Given the description of an element on the screen output the (x, y) to click on. 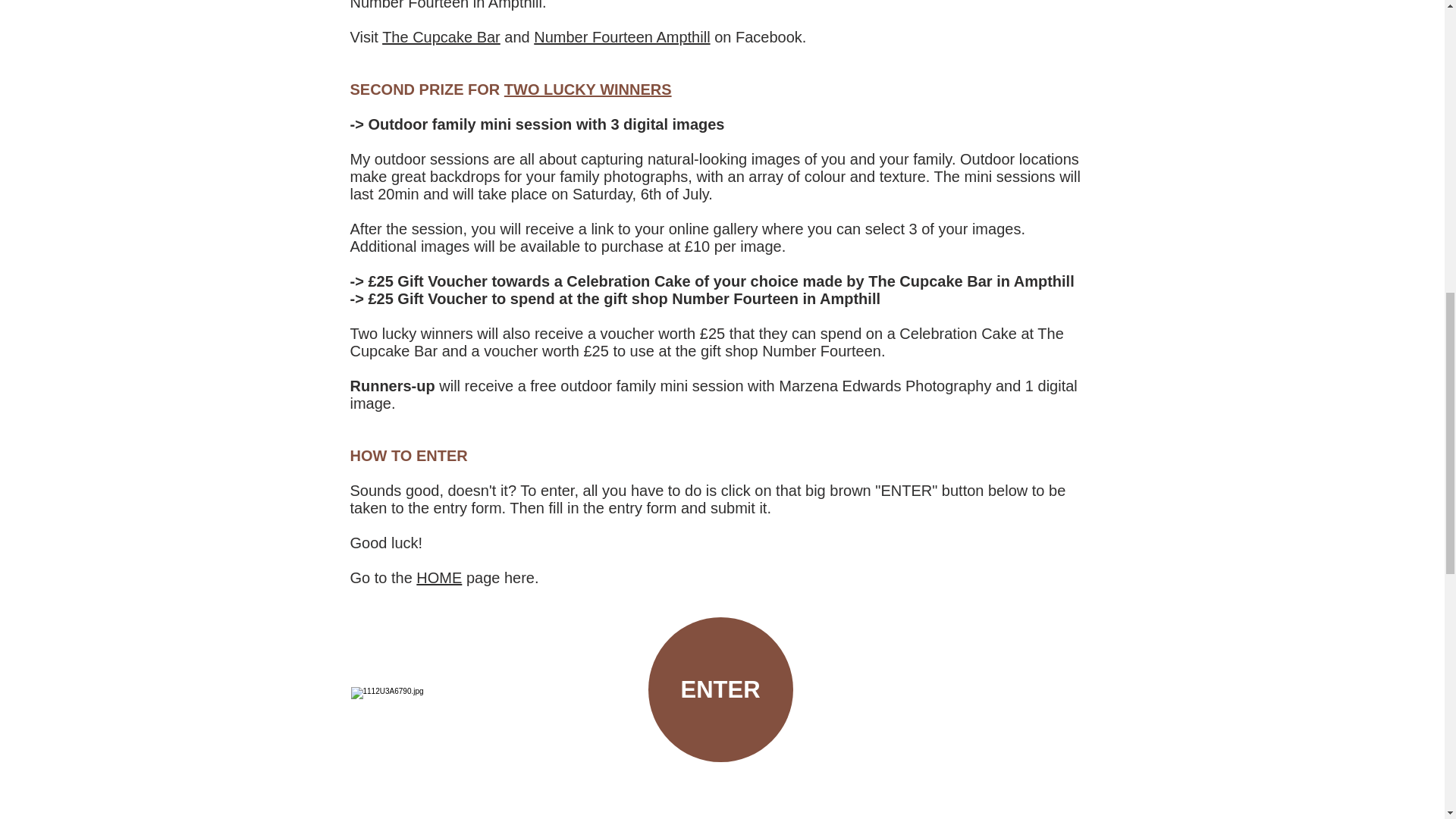
ENTER (719, 689)
Number Fourteen Ampthill (622, 36)
HOME (438, 577)
The Cupcake Bar (440, 36)
